Given the description of an element on the screen output the (x, y) to click on. 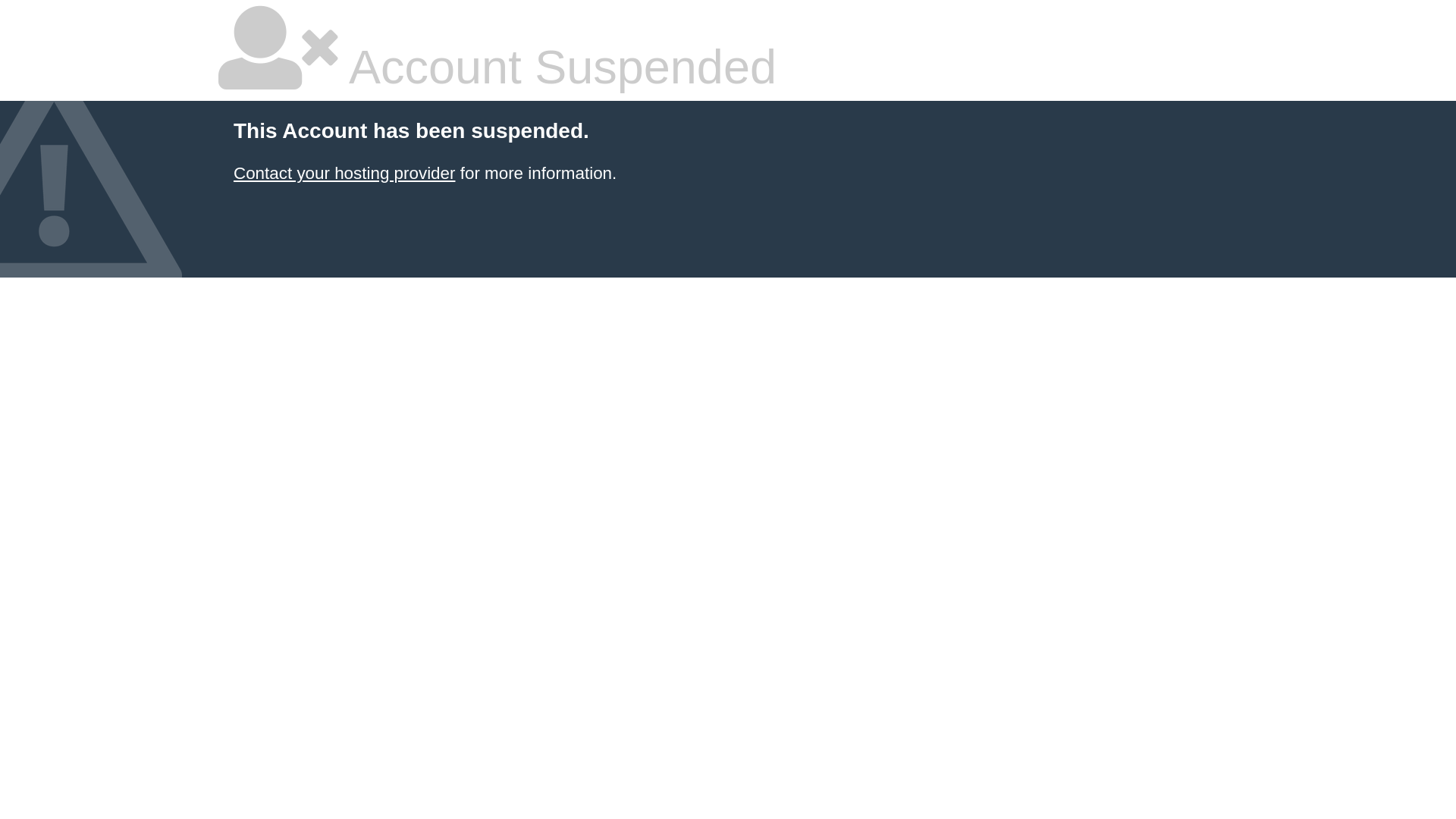
Contact your hosting provider Element type: text (344, 172)
